Given the description of an element on the screen output the (x, y) to click on. 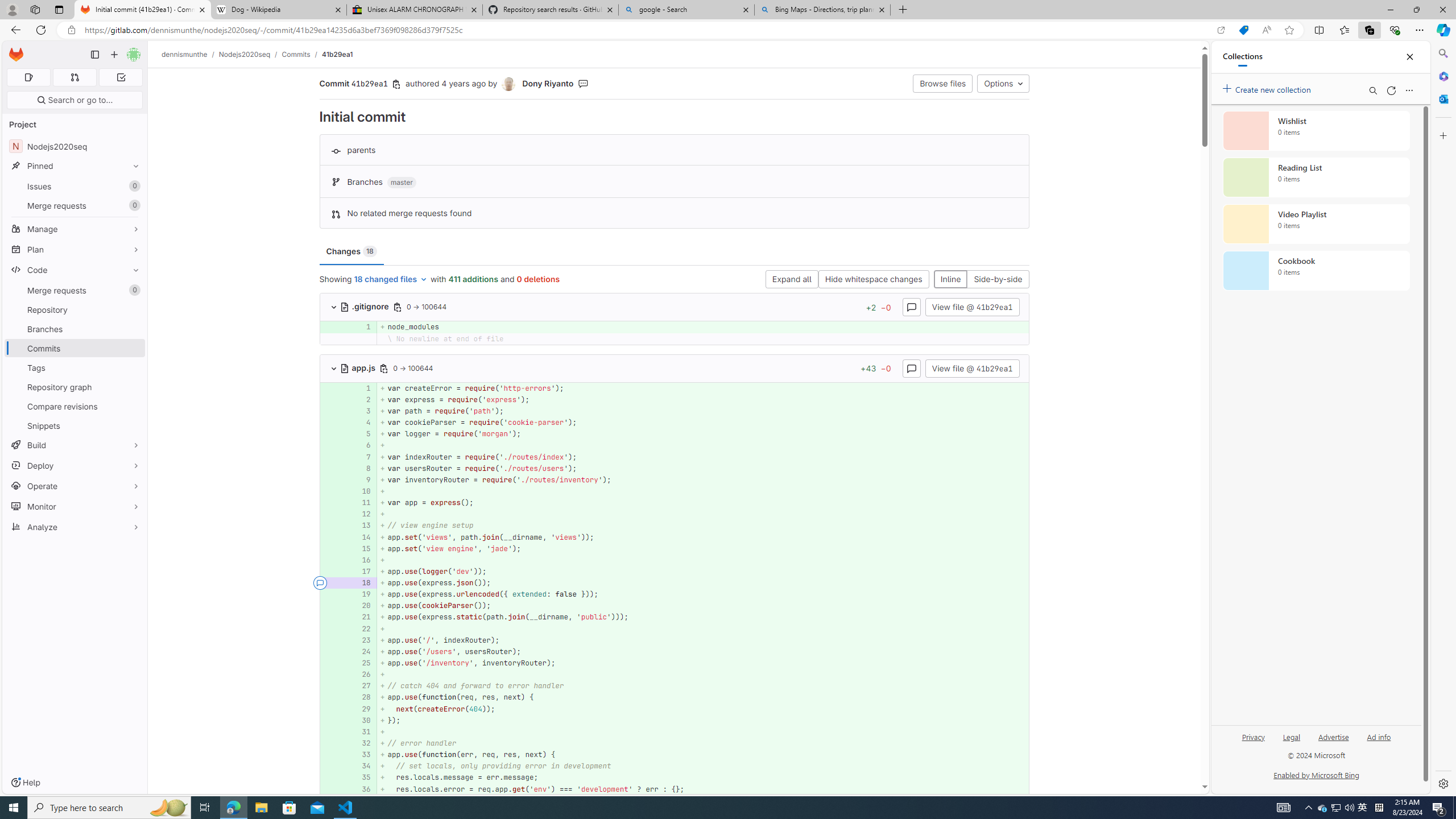
18 changed files (390, 279)
Expand all (791, 279)
+ next(createError(404));  (703, 708)
Pin Branches (132, 328)
+ app.set('views', path.join(__dirname, 'views'));  (703, 536)
34 (360, 766)
Customize (1442, 135)
23 (360, 639)
7 (360, 456)
36 (360, 788)
24 (362, 651)
Unpin Issues (132, 186)
AutomationID: 4a68969ef8e858229267b842dedf42ab5dde4d50_0_2 (674, 399)
3 (360, 410)
